Given the description of an element on the screen output the (x, y) to click on. 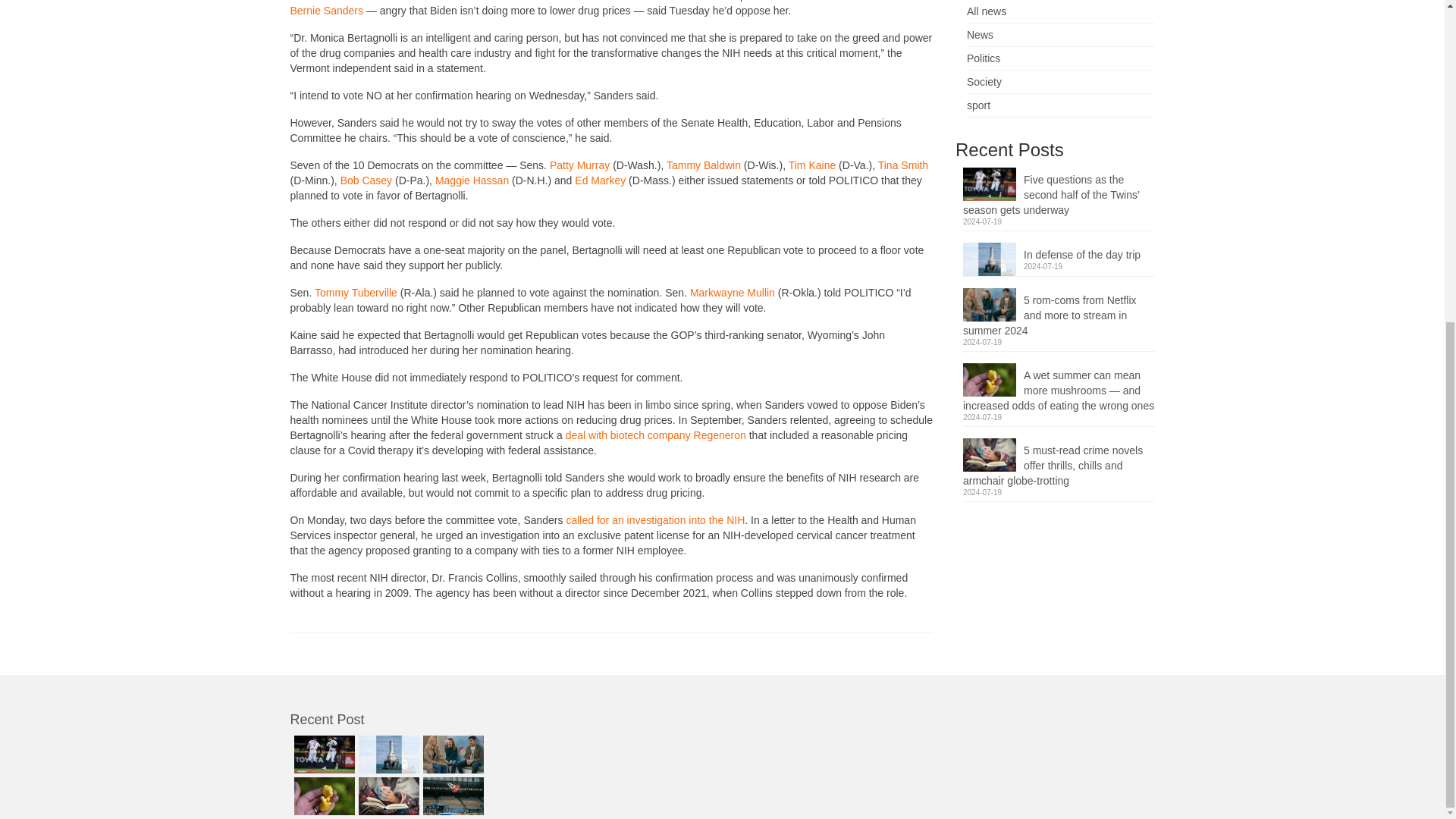
Markwayne Mullin (732, 292)
Politics (983, 58)
Ed Markey (599, 180)
Bernie Sanders (325, 10)
Tommy Tuberville (357, 292)
In defense of the day trip (387, 754)
Tammy Baldwin (703, 164)
All news (986, 10)
deal with biotech company Regeneron (655, 435)
called for an investigation into the NIH (655, 520)
Bob Casey (367, 180)
In defense of the day trip (1058, 252)
5 rom-coms from Netflix and more to stream in summer 2024 (1058, 313)
